Given the description of an element on the screen output the (x, y) to click on. 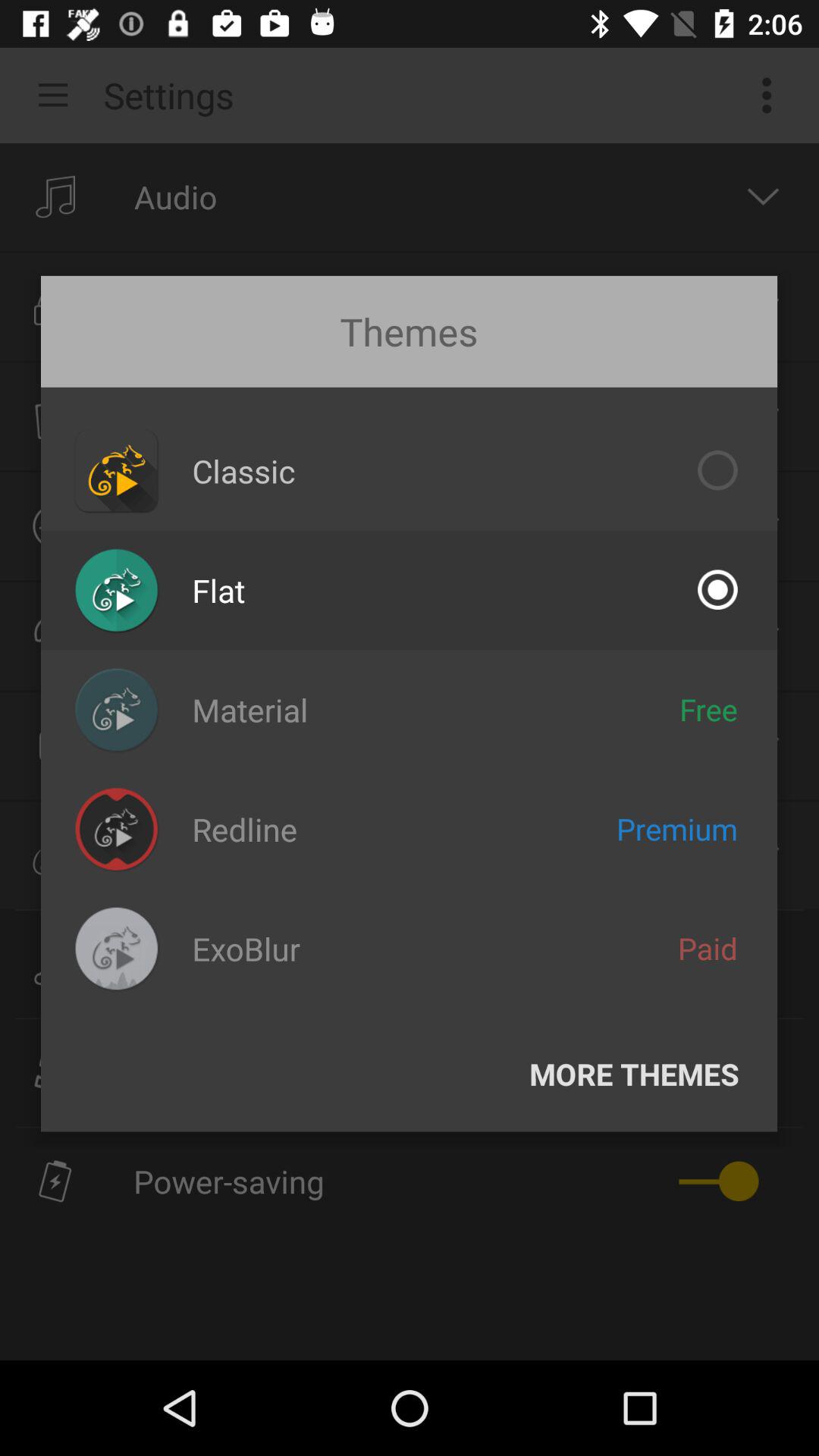
launch paid icon (707, 948)
